Given the description of an element on the screen output the (x, y) to click on. 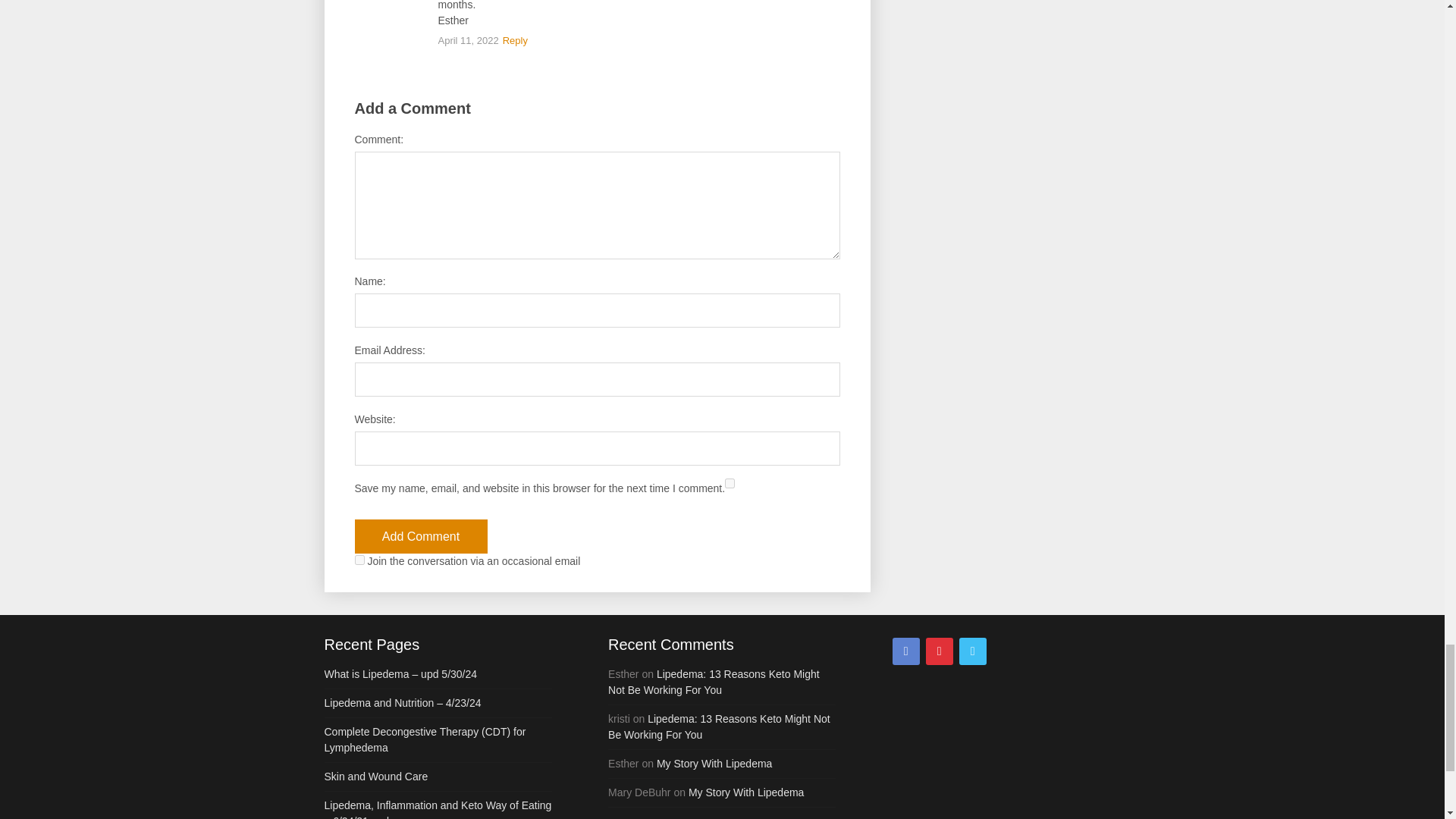
Twitter (973, 651)
Facebook (906, 651)
Pinterest (939, 651)
yes (730, 483)
1 (360, 560)
Add Comment (421, 536)
